Given the description of an element on the screen output the (x, y) to click on. 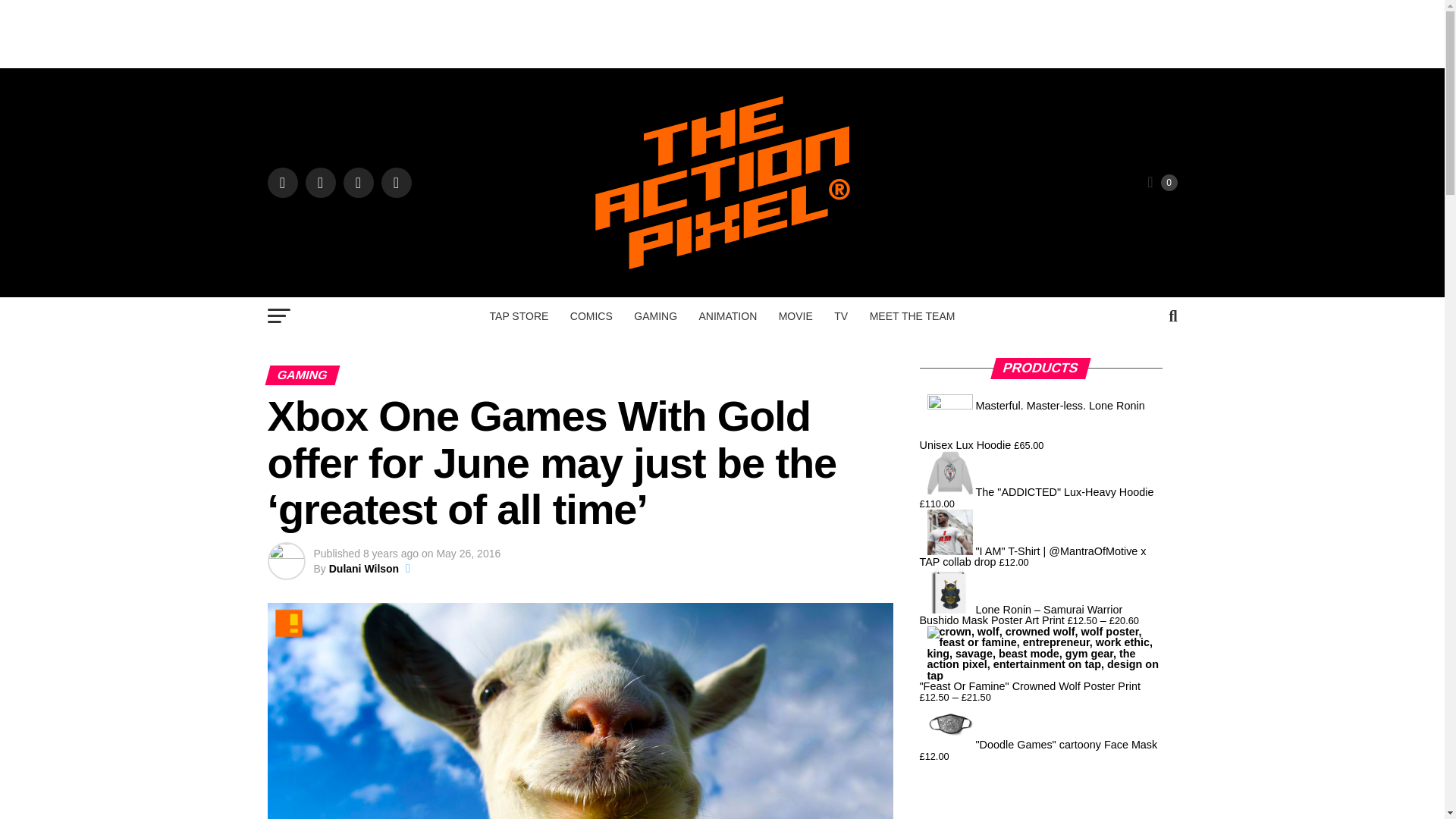
COMICS (590, 315)
ANIMATION (728, 315)
TAP STORE (518, 315)
GAMING (654, 315)
Advertisement (722, 33)
